Given the description of an element on the screen output the (x, y) to click on. 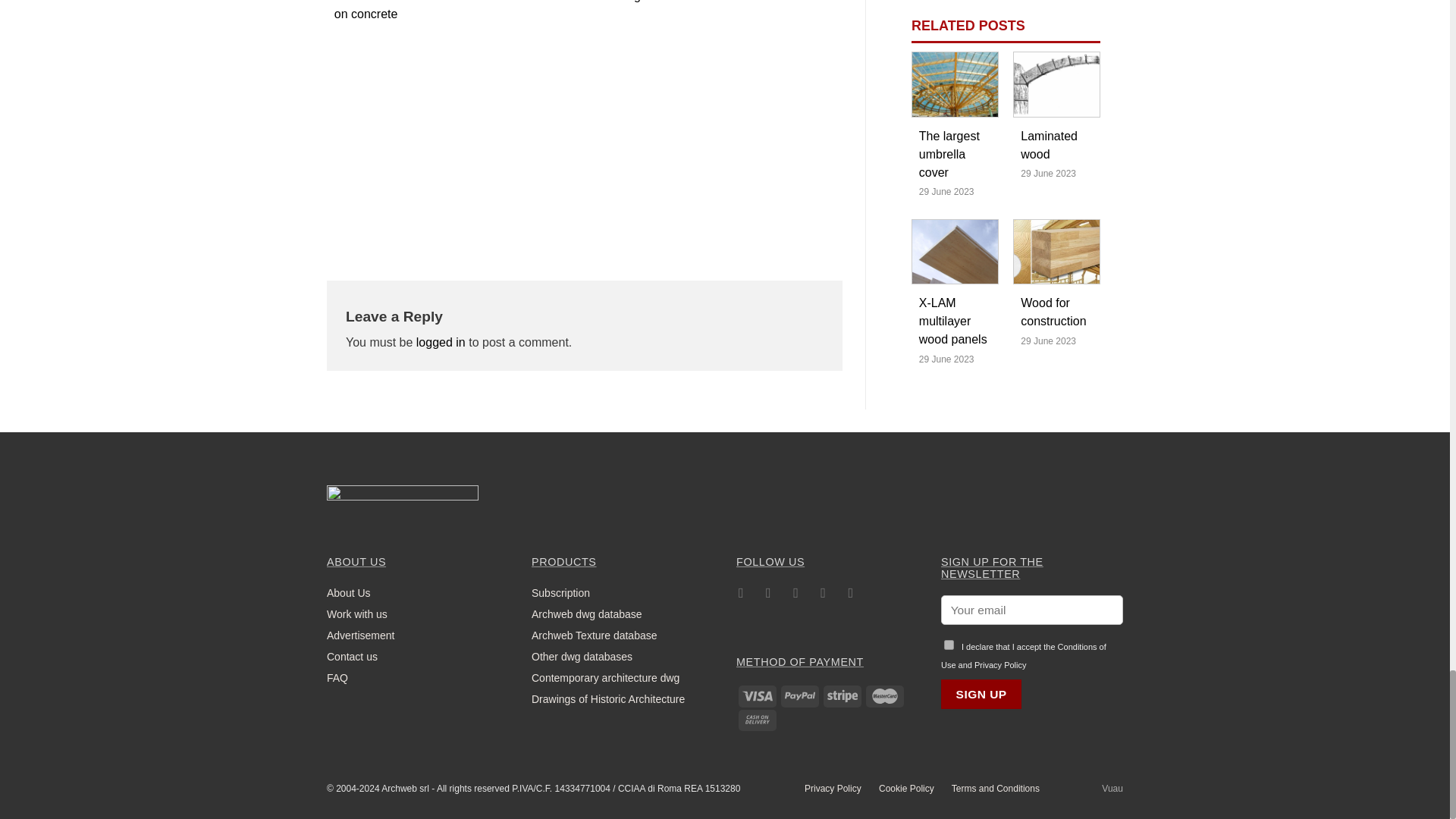
Follow on Facebook (741, 595)
on (948, 644)
Sign up (981, 694)
